Given the description of an element on the screen output the (x, y) to click on. 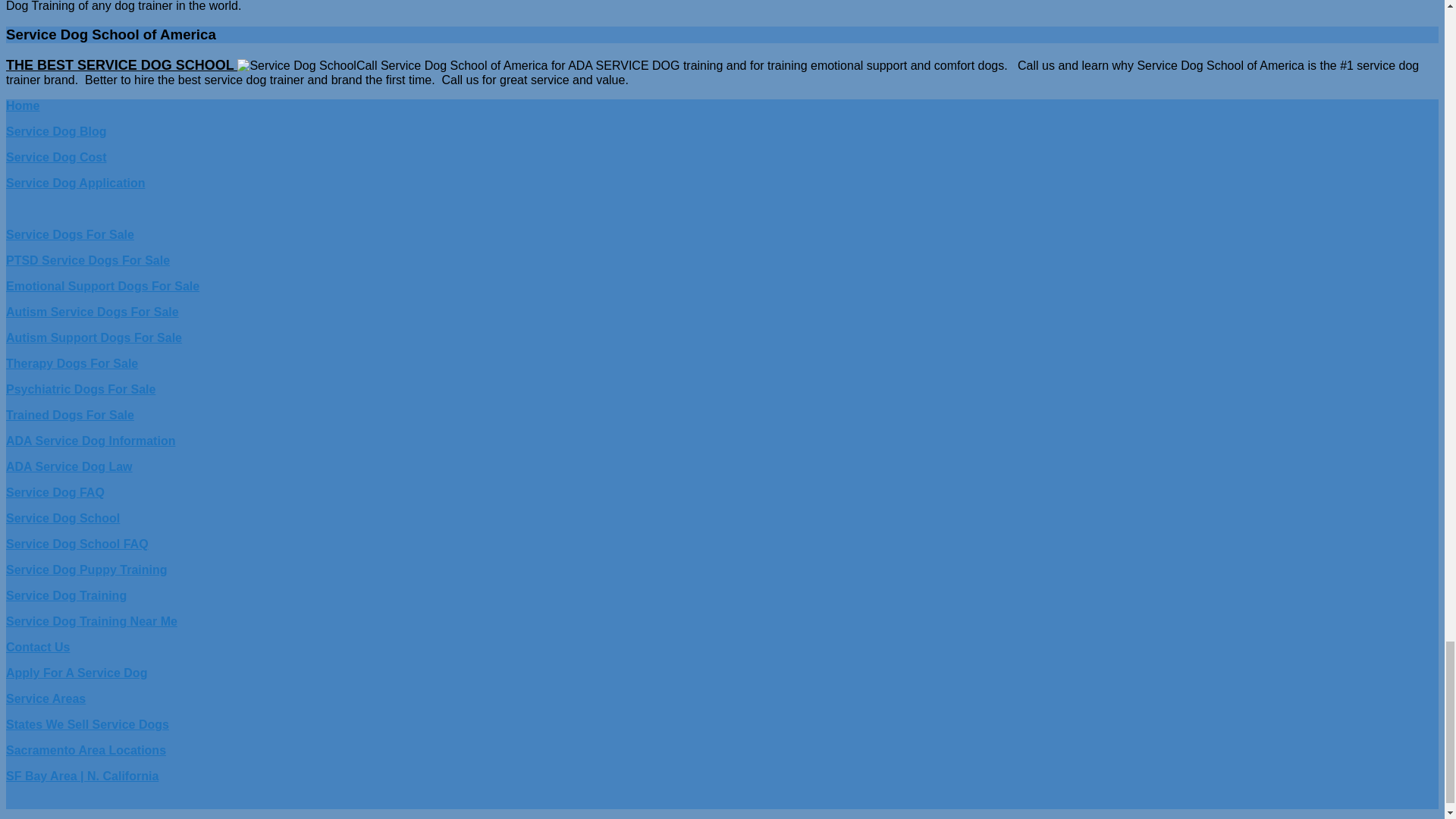
Service Dog School (121, 65)
